Given the description of an element on the screen output the (x, y) to click on. 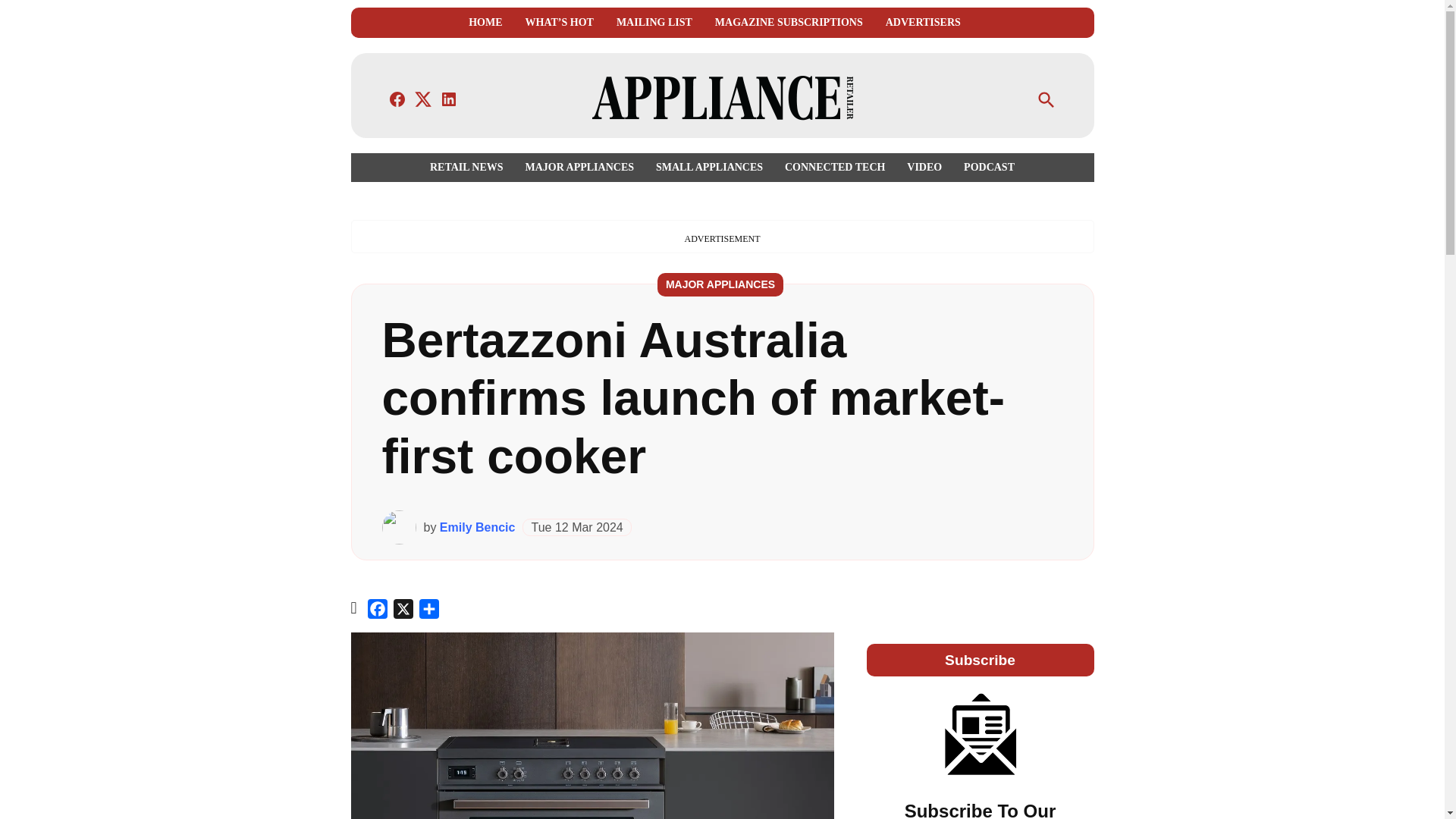
RETAIL NEWS (470, 167)
FACEBOOK (397, 99)
CONNECTED TECH (834, 167)
MAILING LIST (653, 22)
MAGAZINE SUBSCRIPTIONS (788, 22)
Facebook (377, 611)
Appliance Retailer (983, 109)
MAJOR APPLIANCES (720, 284)
VIDEO (924, 167)
X (403, 611)
